Given the description of an element on the screen output the (x, y) to click on. 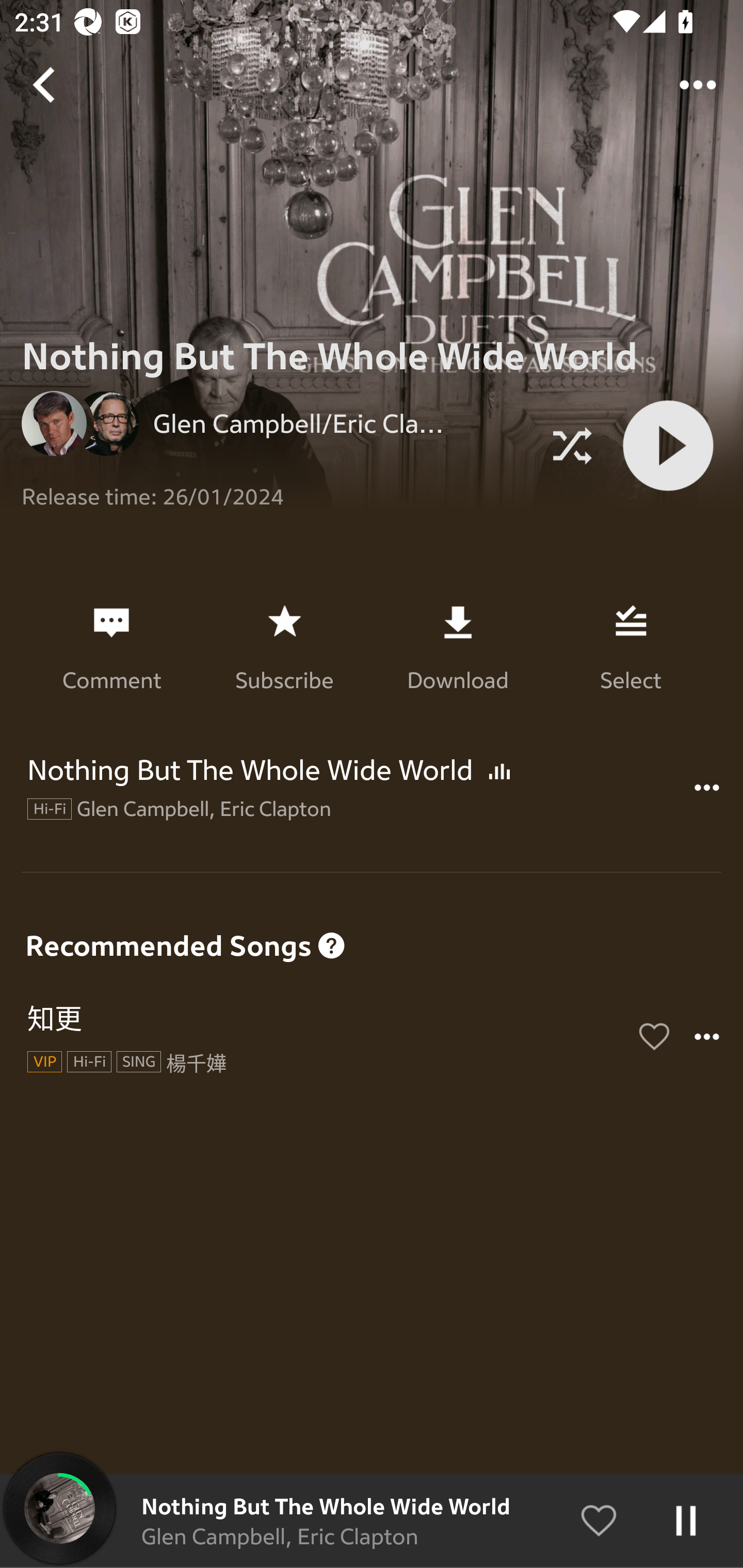
Glen Campbell/Eric Clapton (276, 423)
Glen Campbell/Eric Clapton (291, 423)
Release time: 26/01/2024 (276, 489)
Comment (111, 647)
Subscribe (284, 647)
Download (457, 647)
Select (630, 647)
Recommended Songs (371, 912)
知更 VIP Hi-Fi SING 楊千嬅 (371, 1036)
